Given the description of an element on the screen output the (x, y) to click on. 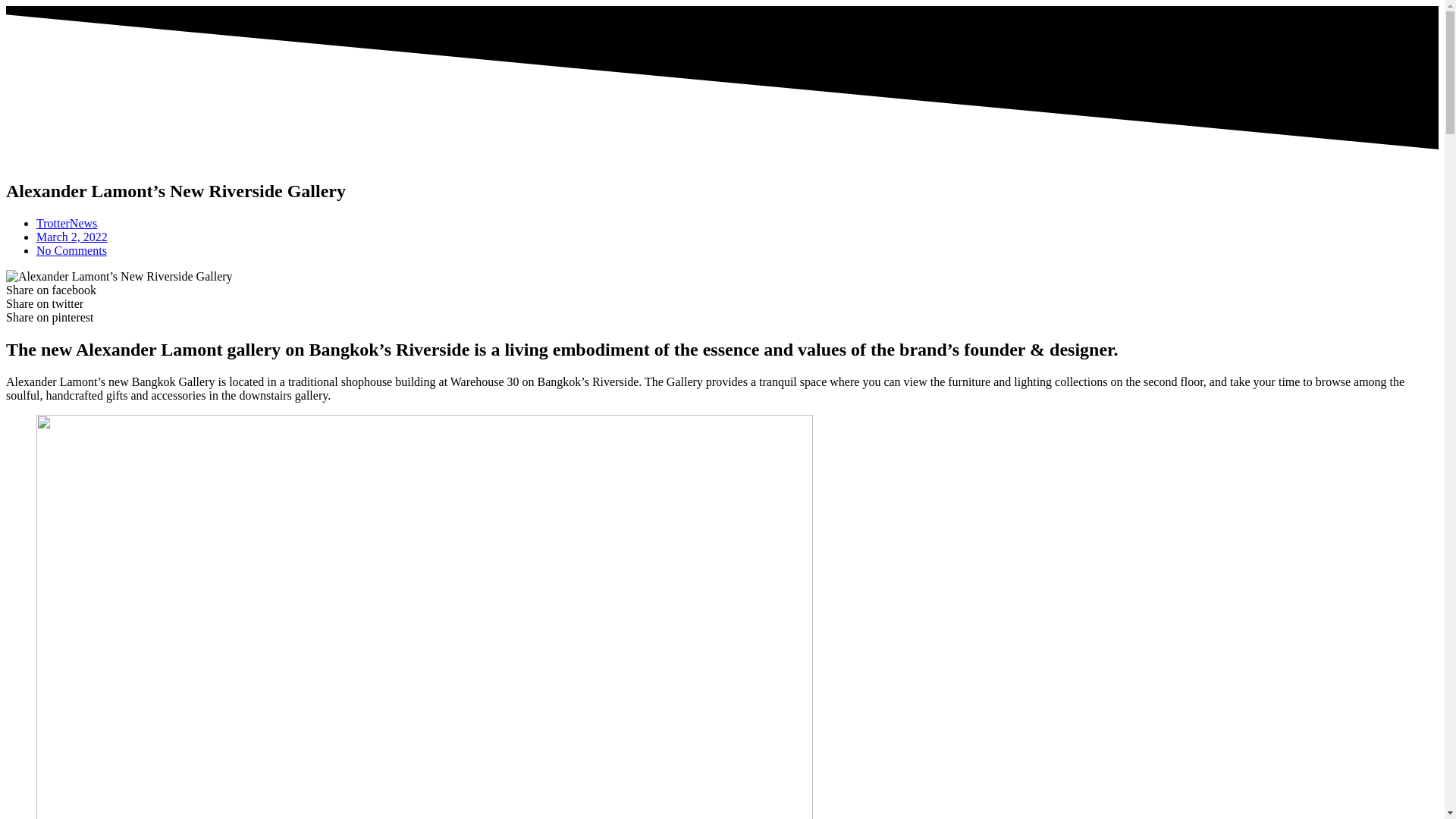
TrotterNews (66, 223)
March 2, 2022 (71, 236)
No Comments (71, 250)
